Given the description of an element on the screen output the (x, y) to click on. 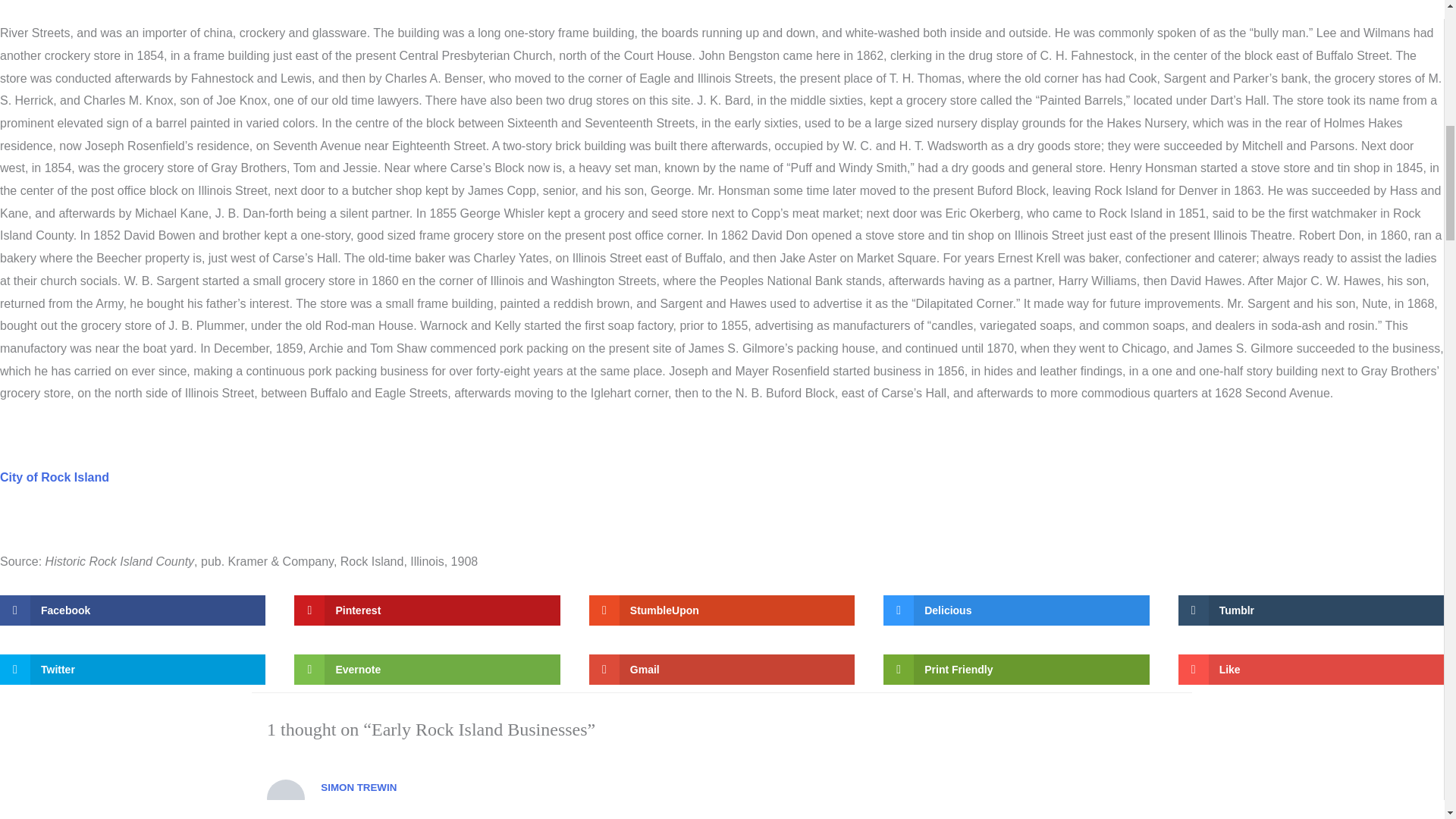
Print Friendly (1015, 669)
Delicious (1015, 610)
Tumblr (1310, 610)
City of Rock Island (54, 477)
SIMON TREWIN (358, 787)
Pinterest (426, 610)
Gmail (721, 669)
MARCH 8, 2023 AT 5:25 AM (384, 803)
StumbleUpon (721, 610)
Facebook (132, 610)
Twitter (132, 669)
Evernote (426, 669)
Like (1310, 669)
